Given the description of an element on the screen output the (x, y) to click on. 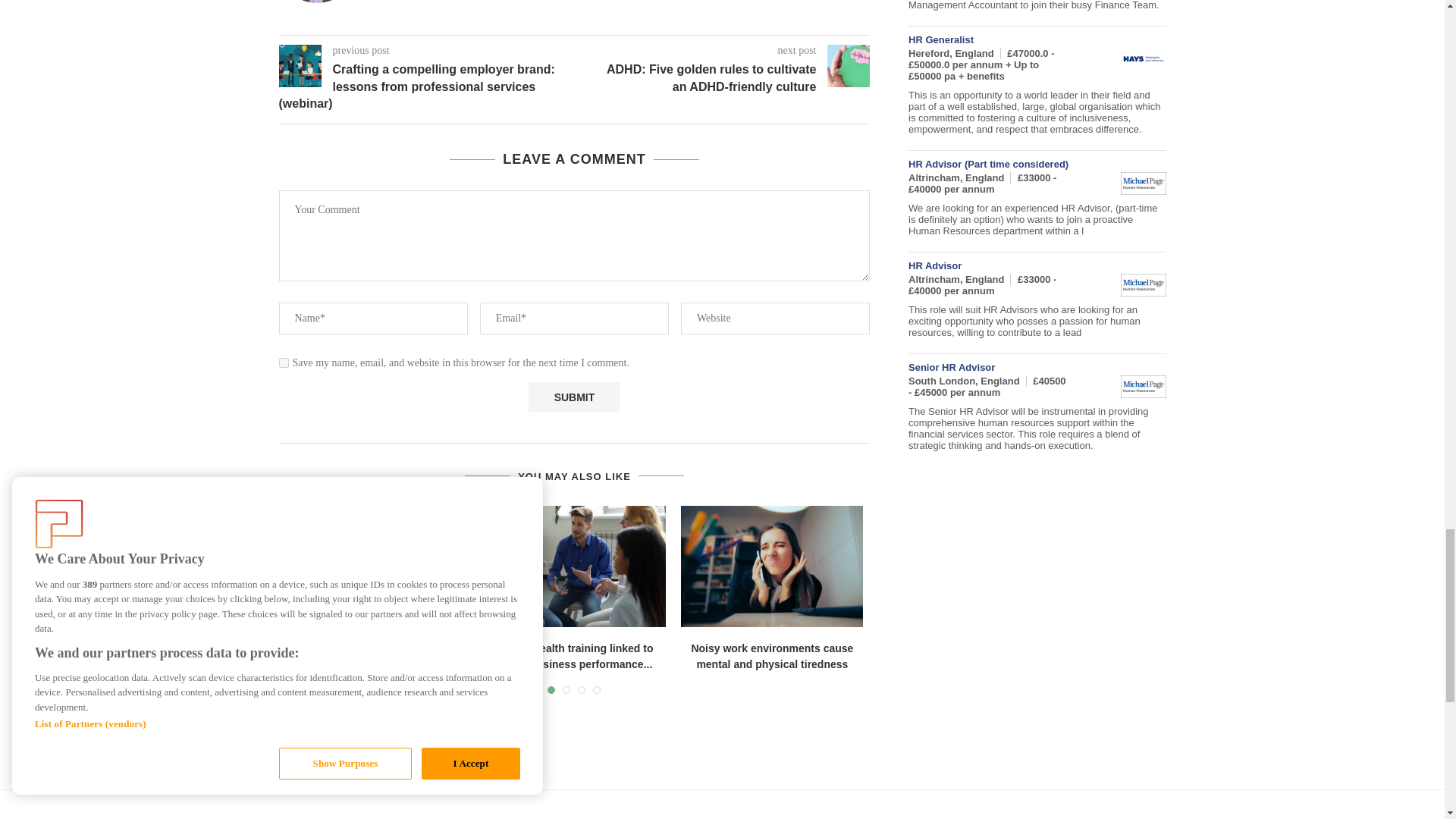
yes (283, 362)
Submit (574, 397)
